Given the description of an element on the screen output the (x, y) to click on. 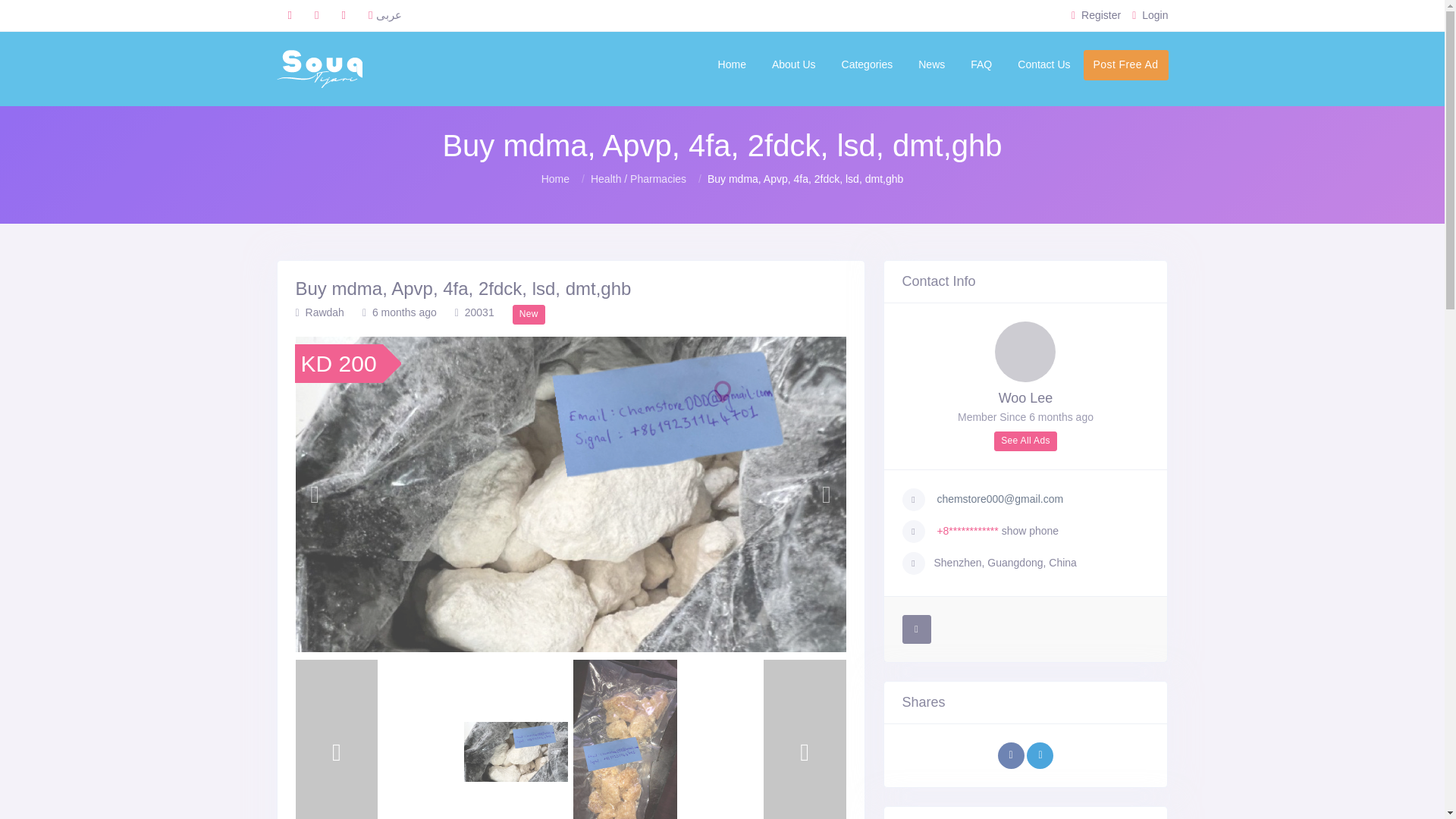
News (931, 64)
6 months ago (399, 312)
Rawdah (319, 312)
Register (1096, 15)
Post Free Ad (1126, 64)
Home (731, 64)
Buy mdma, Apvp, 4fa, 2fdck, lsd, dmt,ghb (570, 288)
New (528, 314)
Home (555, 178)
Contact Us (1043, 64)
FAQ (981, 64)
Categories (866, 64)
About Us (793, 64)
Login (1149, 15)
20031 (474, 312)
